Given the description of an element on the screen output the (x, y) to click on. 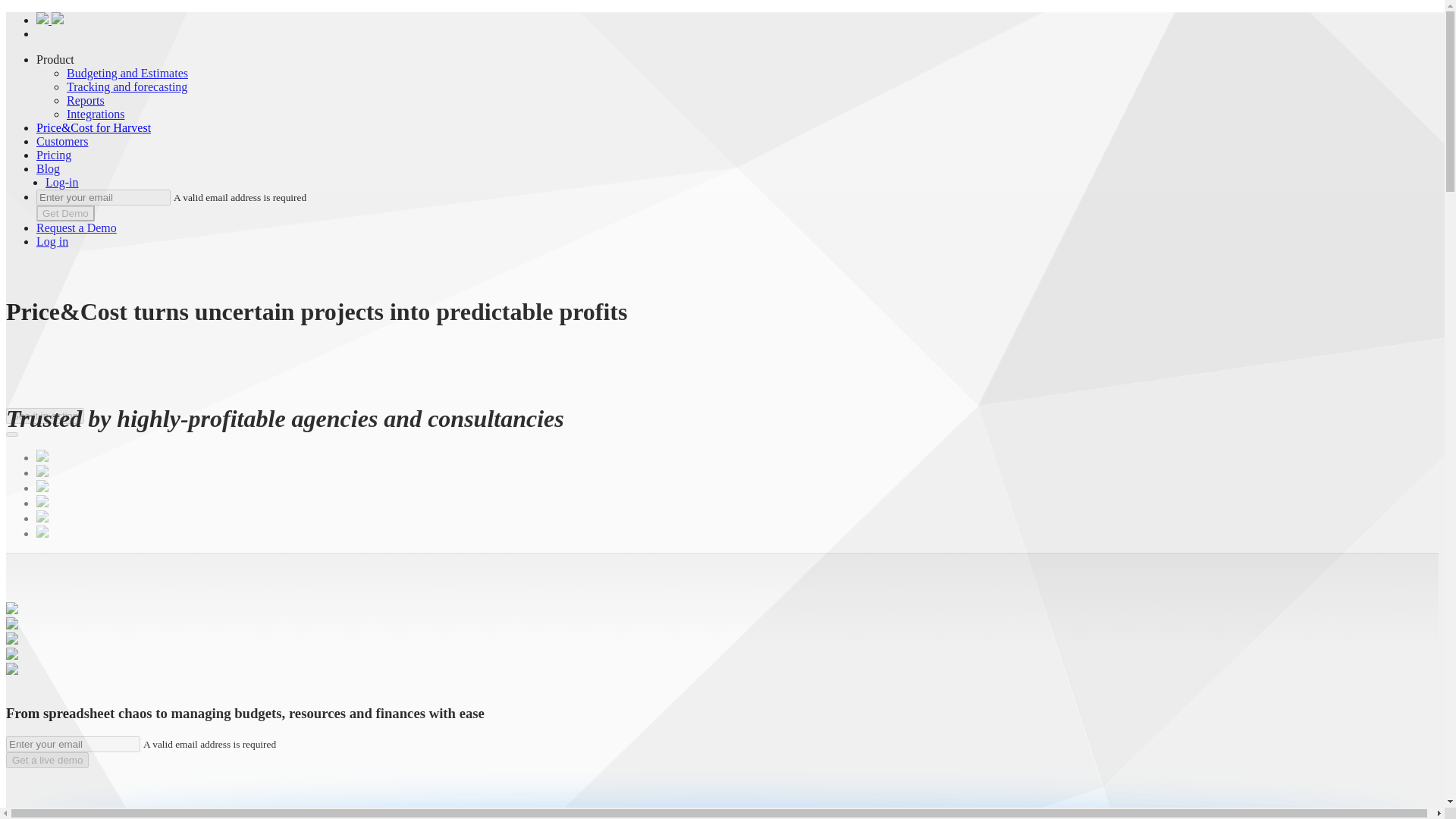
Blog (47, 168)
Log-in (61, 182)
See it in action (44, 415)
Log in (52, 241)
Customers (61, 141)
Get Demo (65, 213)
Budgeting and Estimates (126, 72)
Integrations (94, 113)
Product (55, 59)
Pricing (53, 154)
Get a live demo (46, 760)
Reports (85, 100)
Tracking and forecasting (126, 86)
Request a Demo (76, 227)
